Given the description of an element on the screen output the (x, y) to click on. 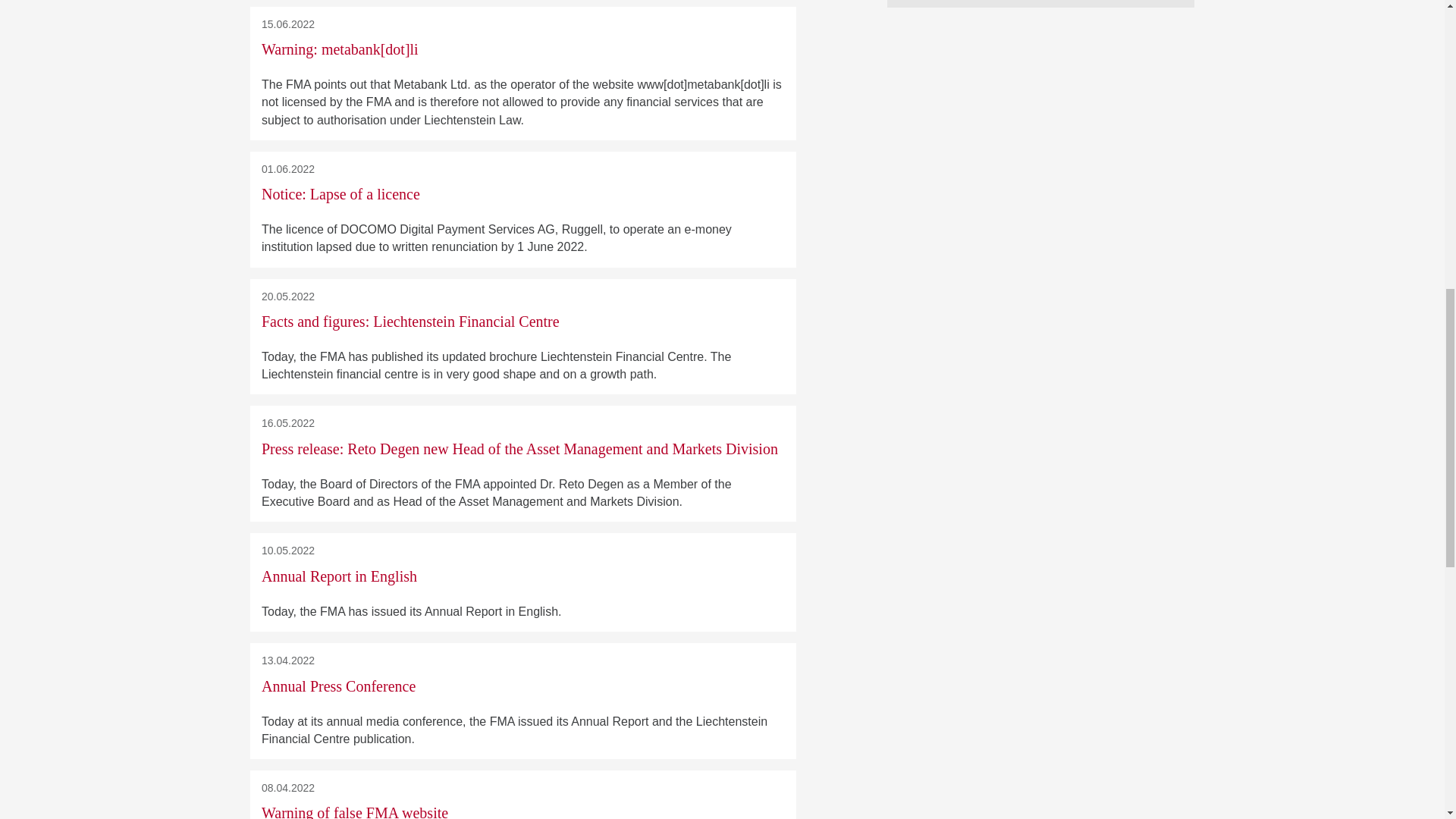
Annual Report in English (339, 576)
Annual Press Conference (338, 686)
Warning of false FMA website (355, 811)
Facts and figures: Liechtenstein Financial Centre (410, 321)
Notice: Lapse of a licence (341, 193)
